Given the description of an element on the screen output the (x, y) to click on. 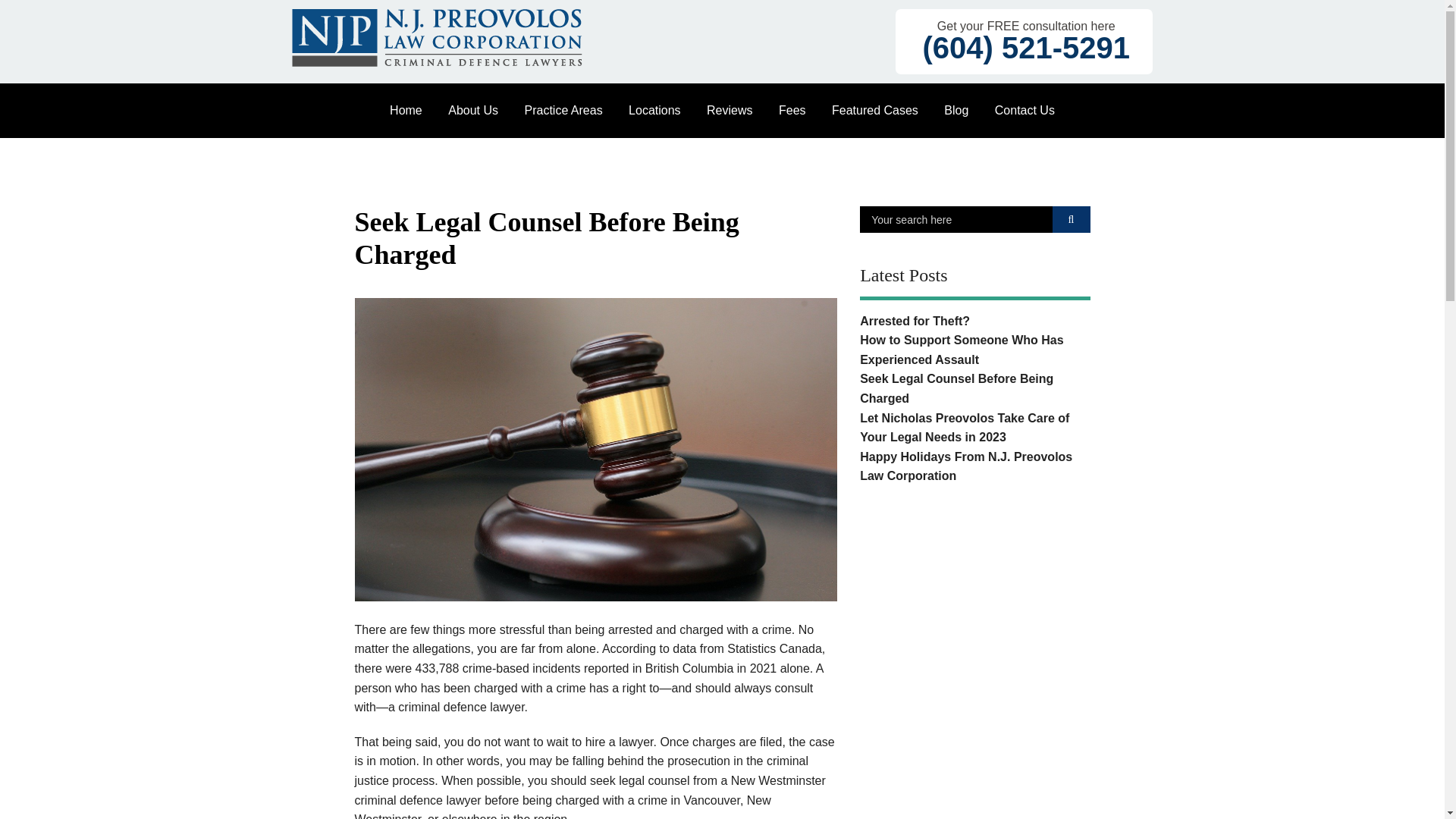
Blog (956, 110)
Employee Crimes (562, 304)
Drug Offences (562, 280)
Abbotsford and Chilliwack (655, 256)
Fees (791, 110)
Vancouver (655, 159)
New Westminster criminal defence lawyer (590, 789)
Civil Forfeiture (562, 159)
Offences Against Property and Persons (562, 450)
Sex Offences (562, 523)
